Given the description of an element on the screen output the (x, y) to click on. 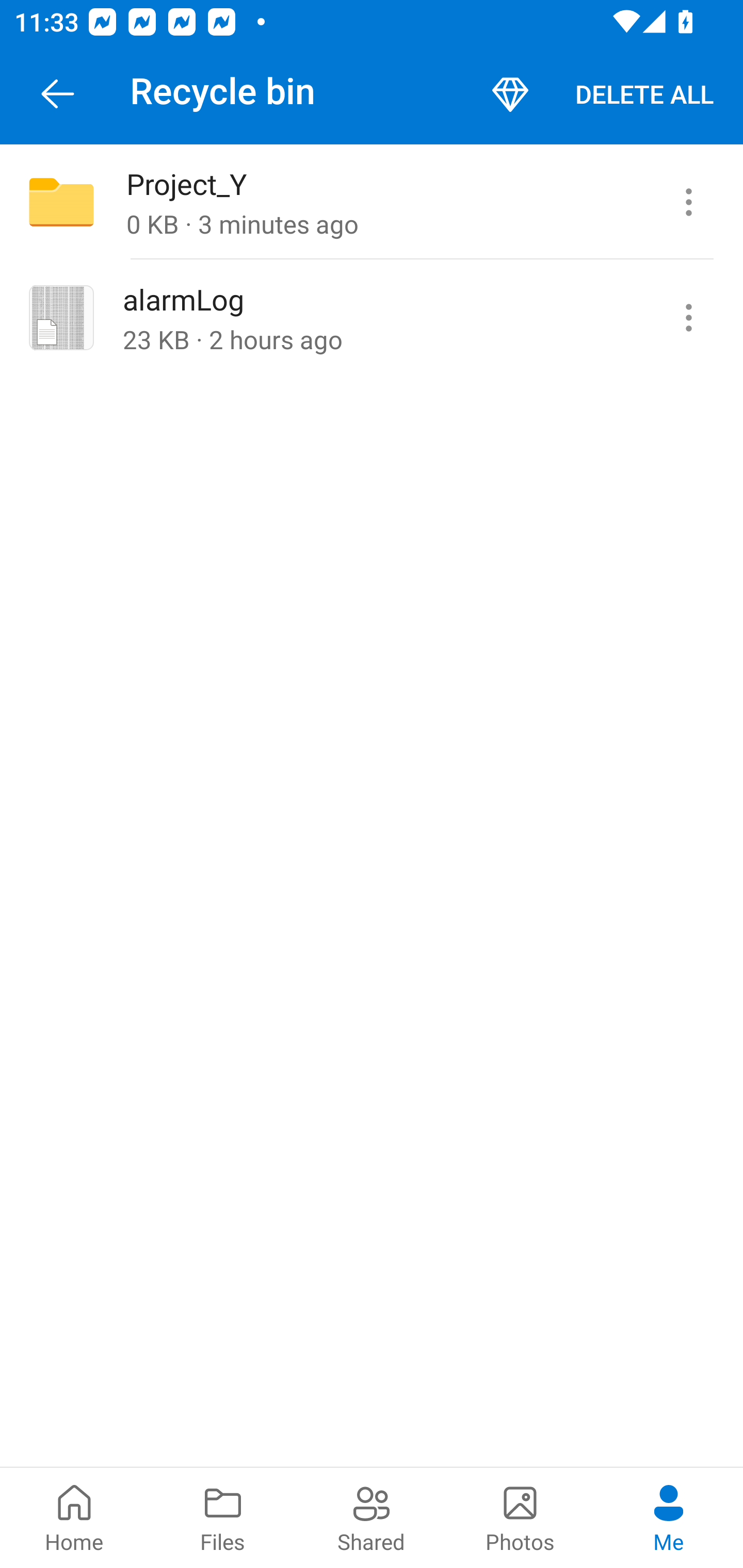
Navigate Up (57, 93)
Premium button (509, 93)
DELETE ALL Delete all button (644, 93)
Project_Y commands (688, 202)
alarmLog commands (688, 317)
Home pivot Home (74, 1517)
Files pivot Files (222, 1517)
Shared pivot Shared (371, 1517)
Photos pivot Photos (519, 1517)
